Given the description of an element on the screen output the (x, y) to click on. 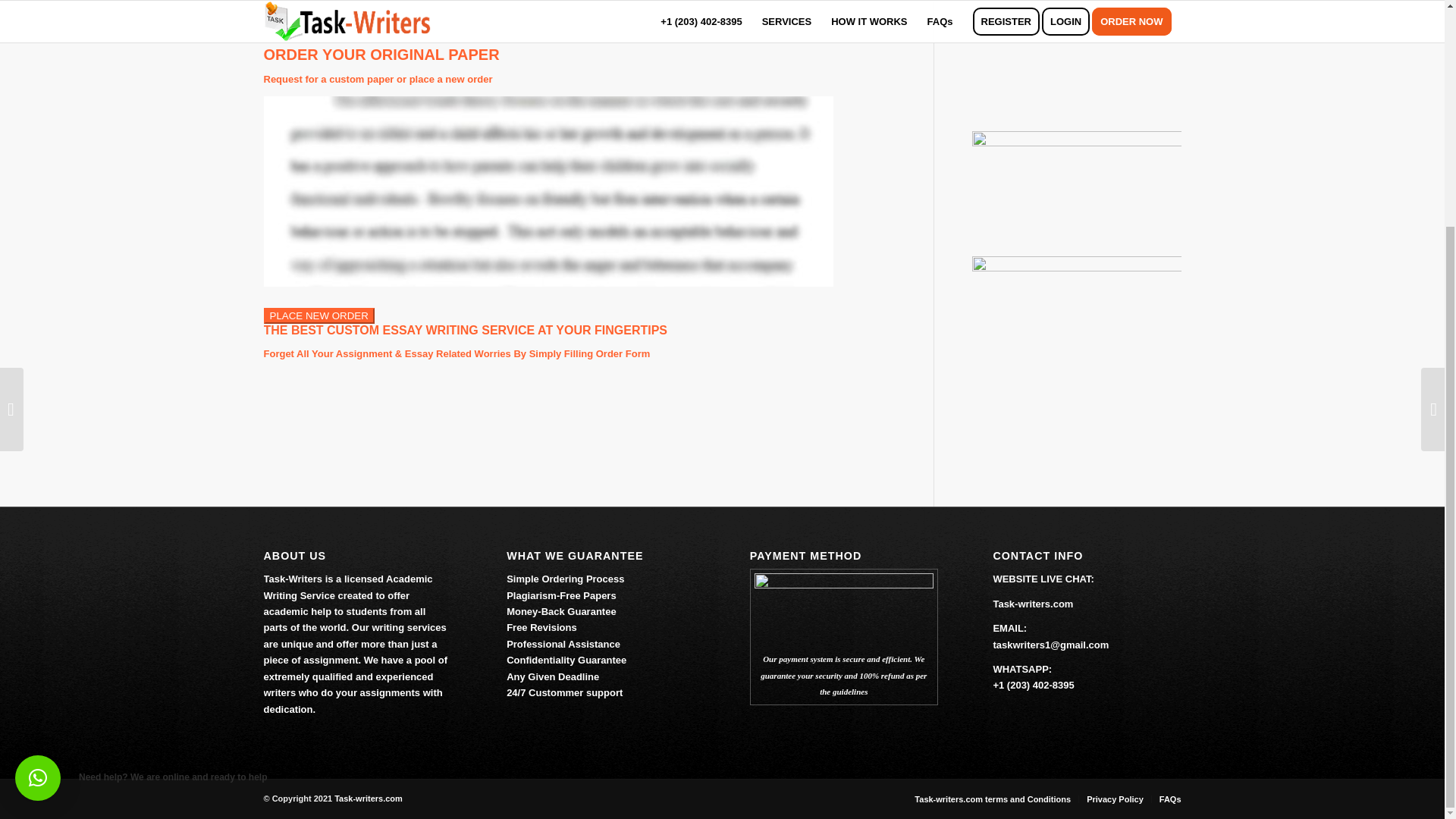
Need help? We are online and ready to help (37, 474)
PLACE NEW ORDER (318, 315)
ORDER YOUR ORIGINAL PAPER (381, 54)
PLACE NEW ORDER (318, 315)
FAQs (1169, 798)
Privacy Policy (1114, 798)
Task-writers.com (368, 798)
Task-writers.com terms and Conditions (992, 798)
